Given the description of an element on the screen output the (x, y) to click on. 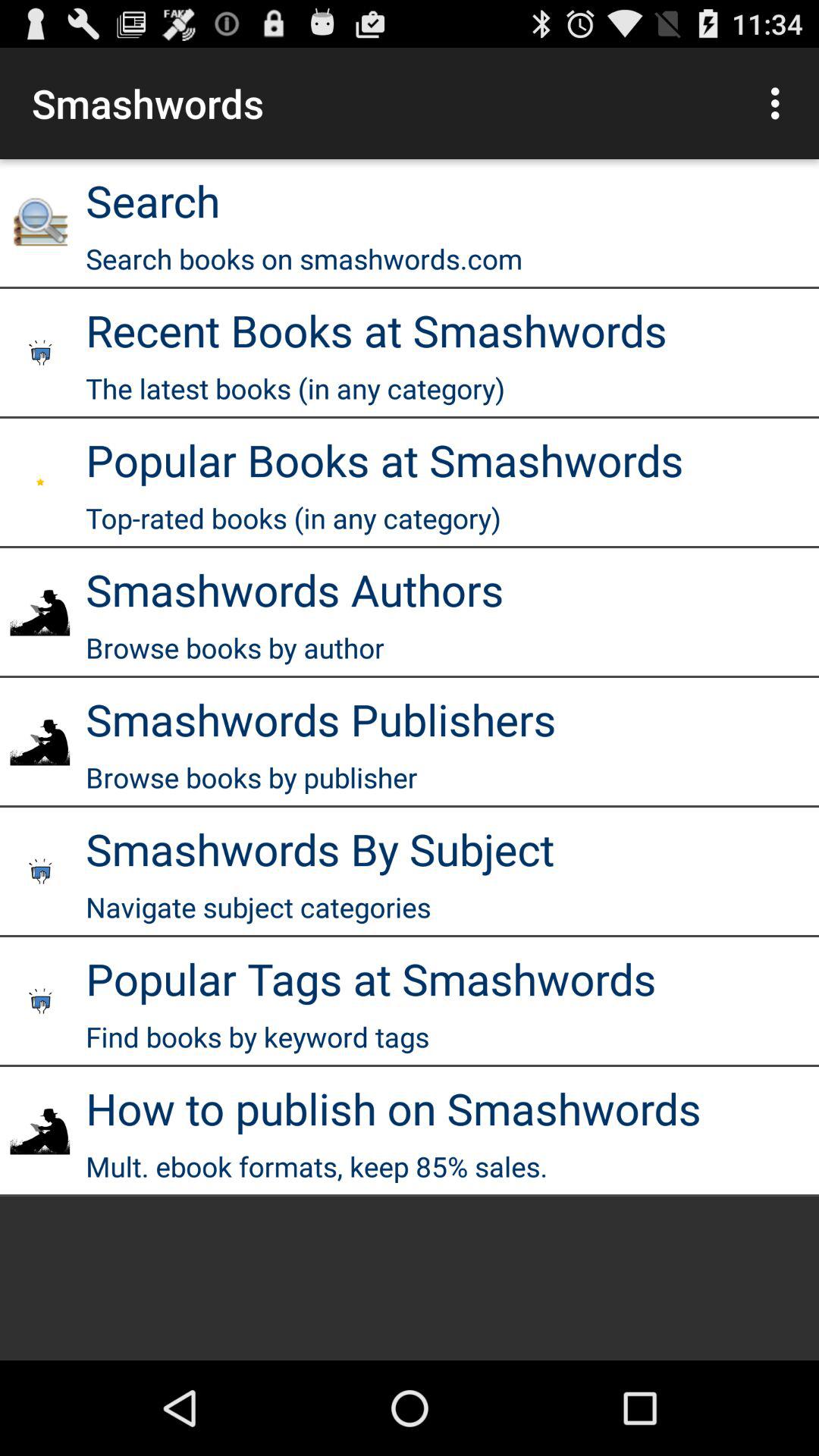
turn off the how to publish icon (393, 1107)
